Given the description of an element on the screen output the (x, y) to click on. 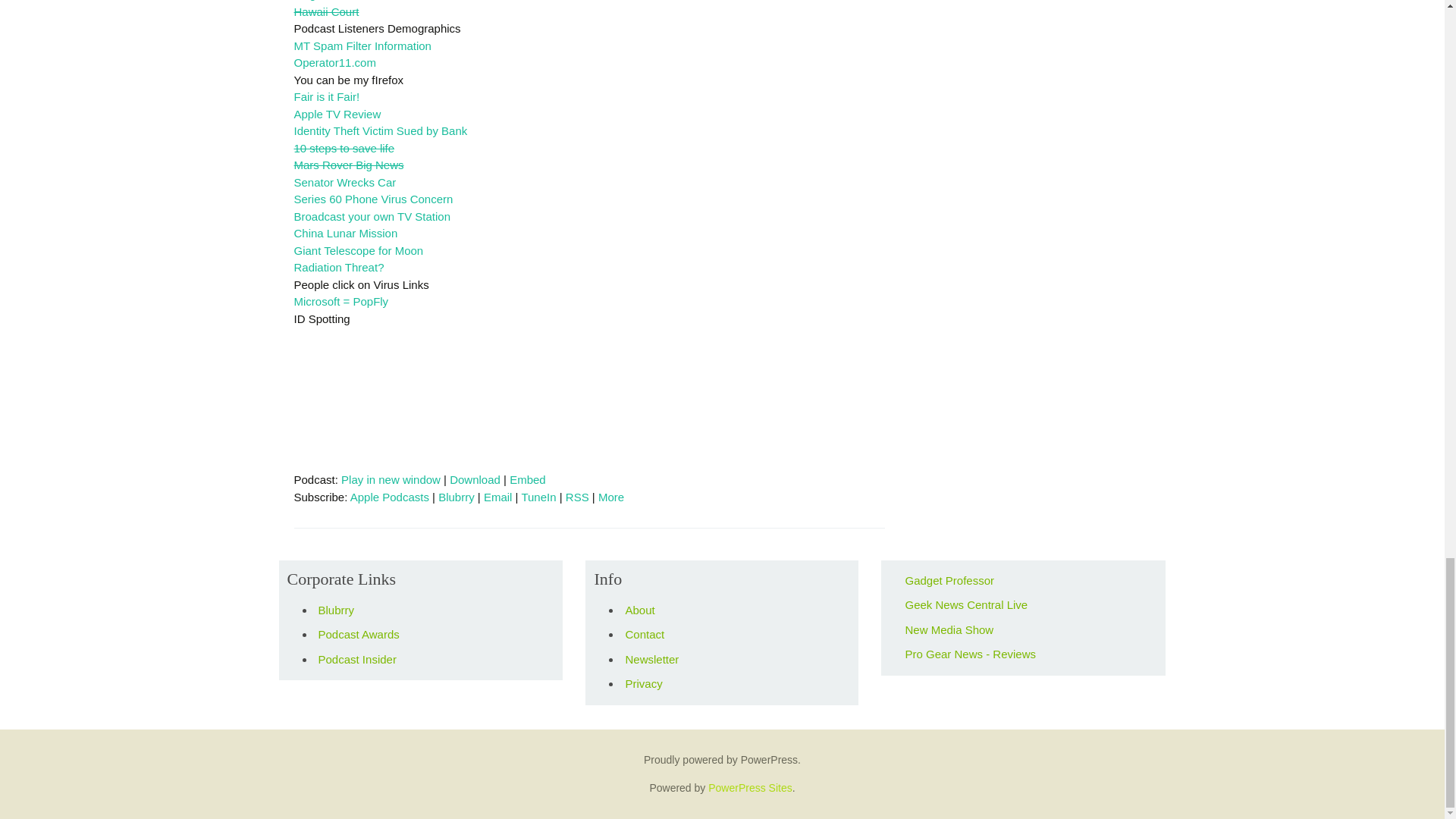
Download (474, 479)
Blubrry Podcast Player (589, 403)
Play in new window (390, 479)
